Given the description of an element on the screen output the (x, y) to click on. 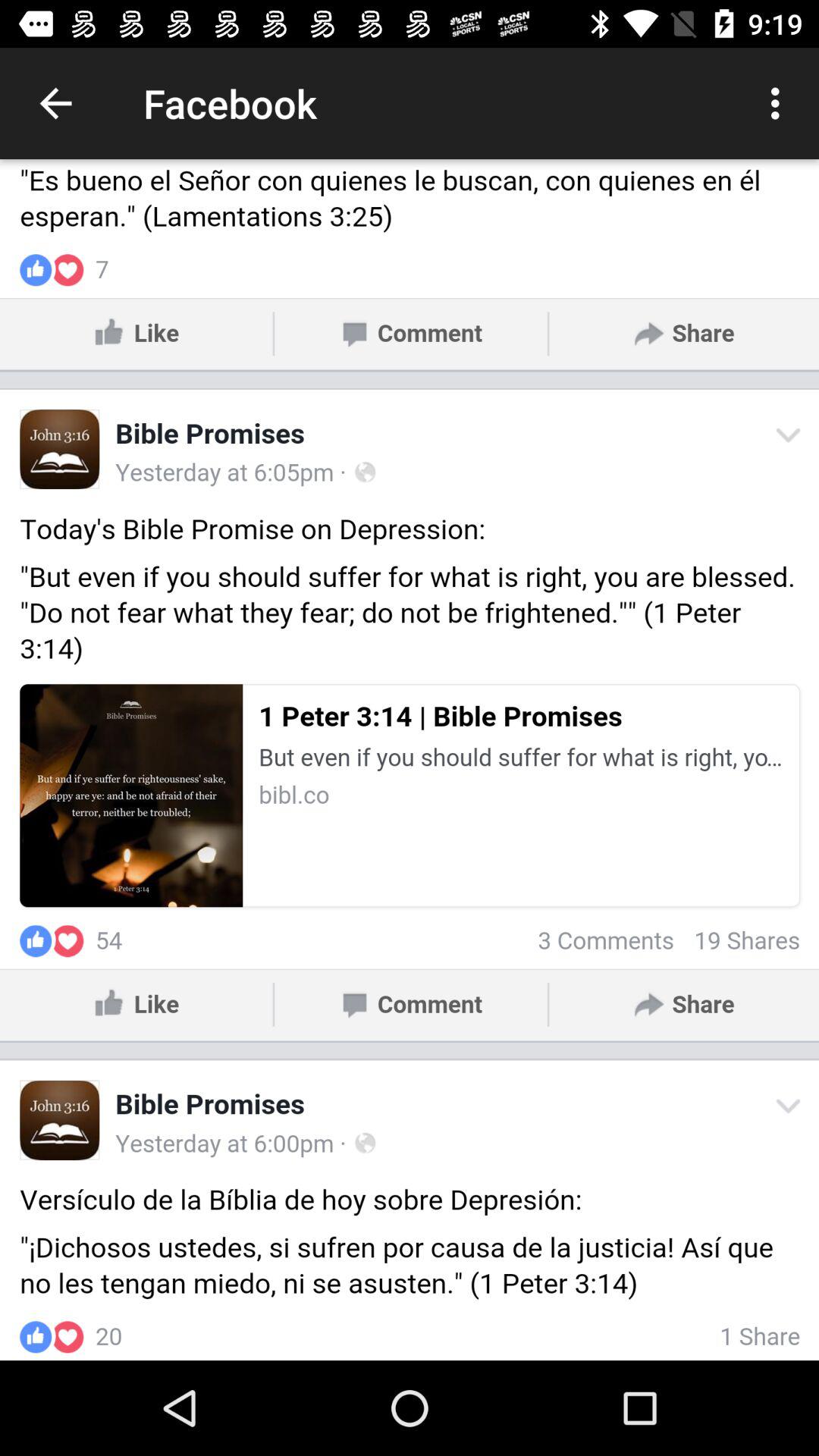
facebook view (409, 759)
